Given the description of an element on the screen output the (x, y) to click on. 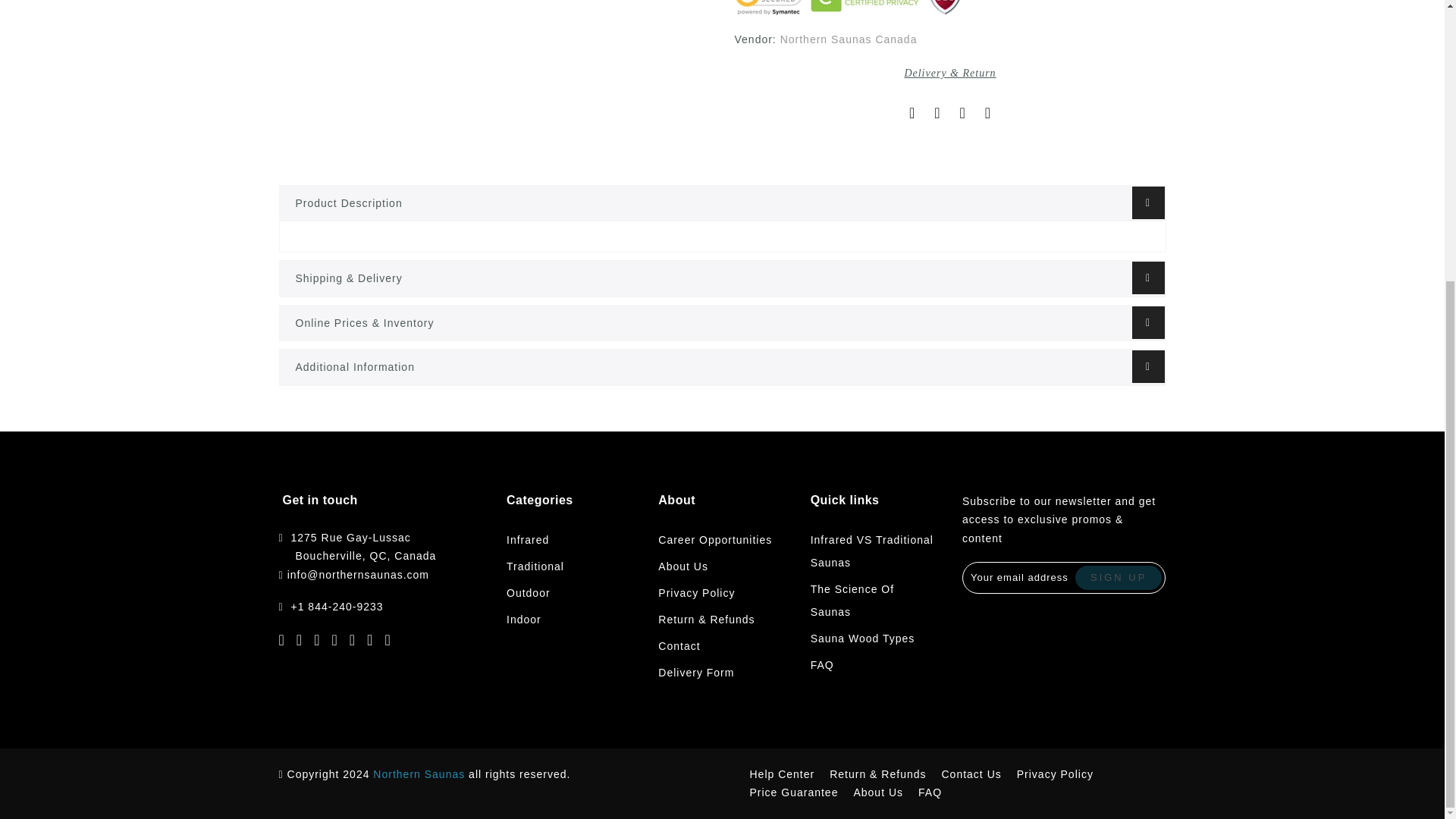
Northern Saunas Canada (848, 39)
Sign up (1118, 577)
